Given the description of an element on the screen output the (x, y) to click on. 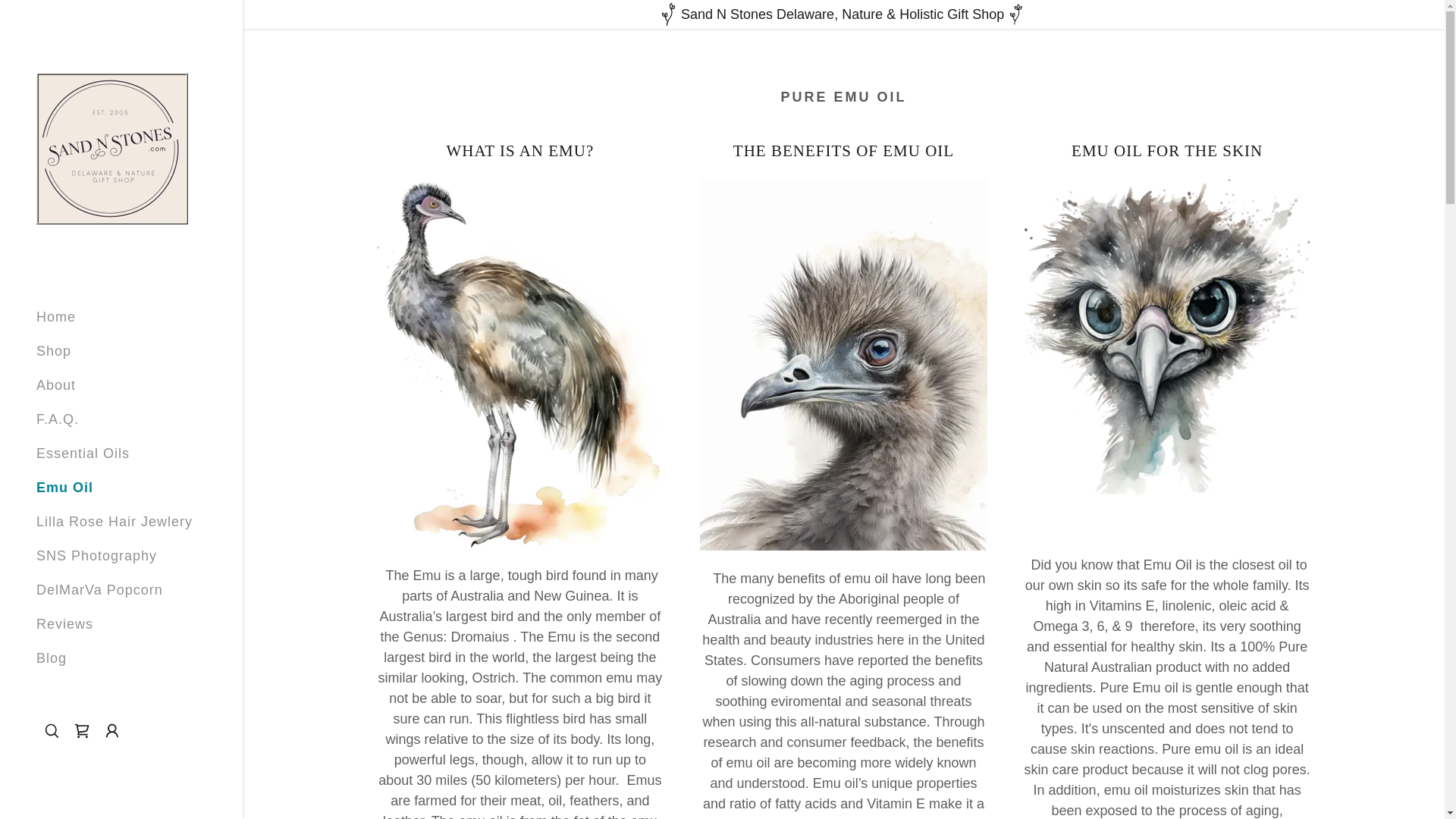
F.A.Q. (57, 418)
Blog (51, 657)
DelMarVa Popcorn (99, 589)
Home (55, 316)
Essential Oils (82, 453)
Media (56, 692)
Emu Oil (64, 487)
Lilla Rose Hair Jewlery (114, 521)
SNS Photography (96, 555)
Sand N Stones (111, 147)
About (55, 385)
Reviews (64, 623)
Shop (53, 350)
